Given the description of an element on the screen output the (x, y) to click on. 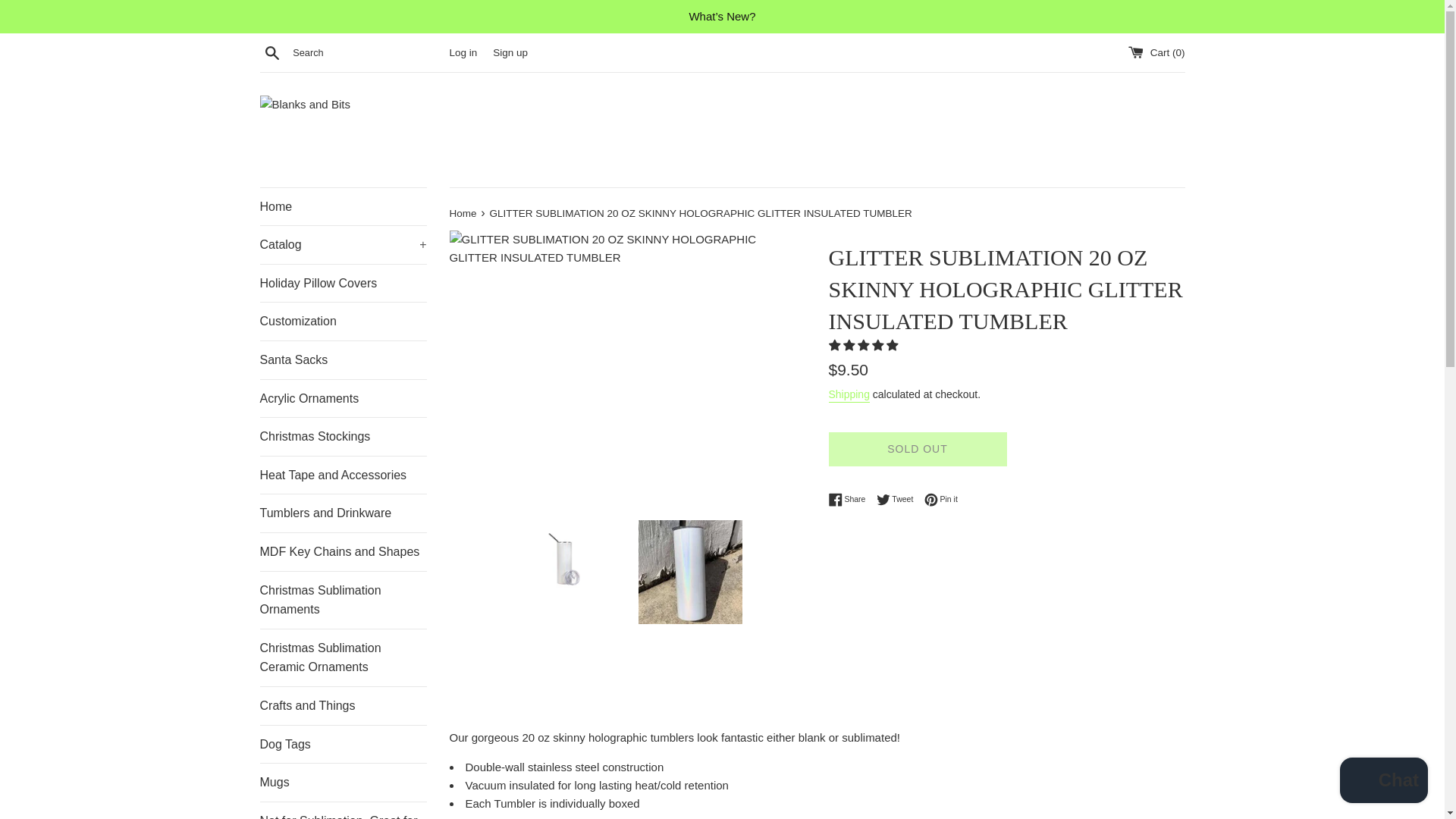
Back to the frontpage (463, 213)
Log in (462, 52)
Holiday Pillow Covers (342, 283)
Home (342, 207)
Tumblers and Drinkware (342, 513)
Crafts and Things (342, 705)
Shopify online store chat (1383, 781)
Christmas Sublimation Ceramic Ornaments (342, 657)
Mugs (342, 782)
Search (271, 52)
